Given the description of an element on the screen output the (x, y) to click on. 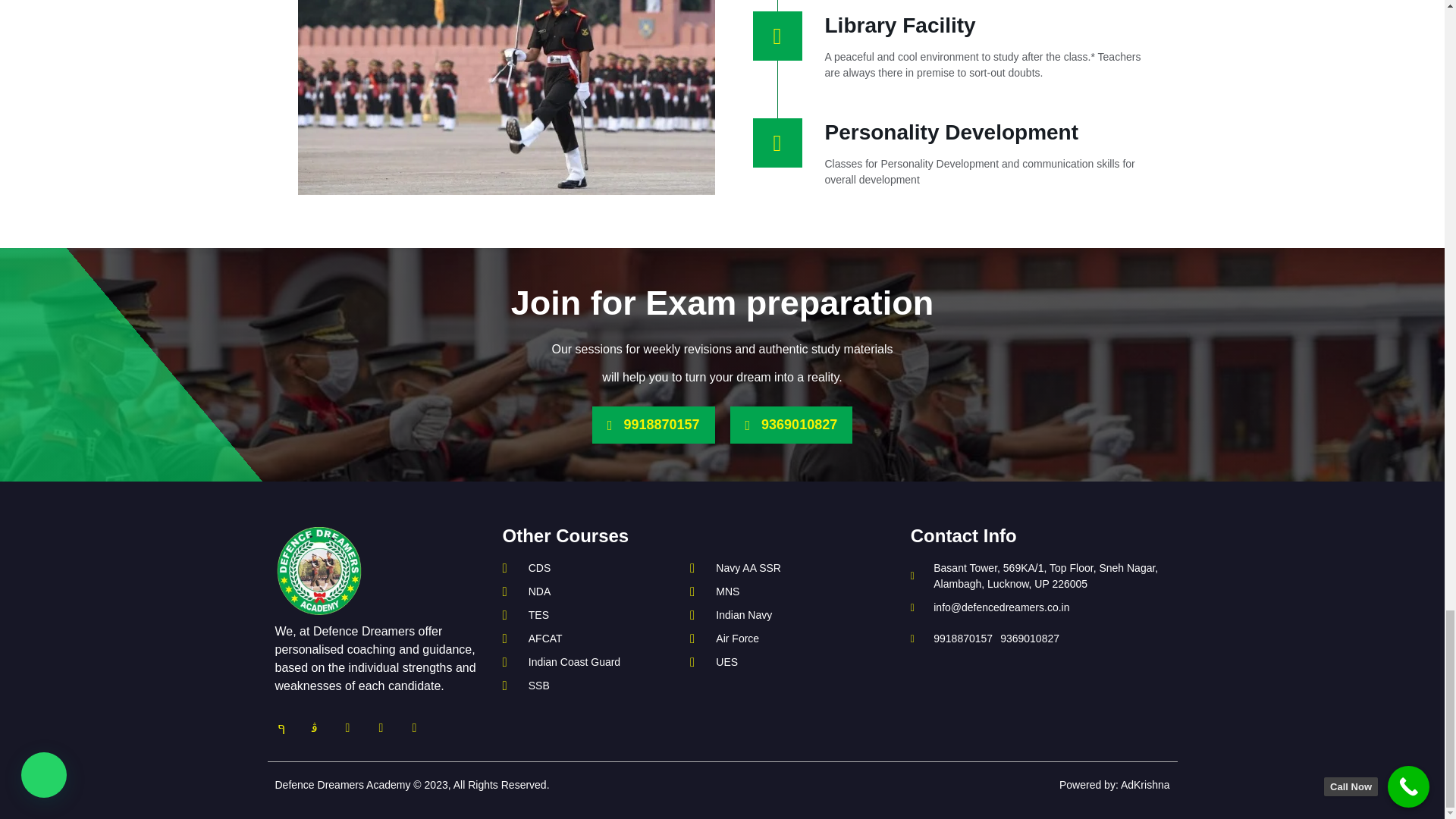
UES (769, 662)
AFCAT (588, 638)
9369010827 (790, 424)
NDA (588, 591)
Indian Coast Guard (588, 662)
TES (588, 615)
MNS (769, 591)
SSB (588, 685)
Indian Navy (769, 615)
CDS (588, 568)
